Given the description of an element on the screen output the (x, y) to click on. 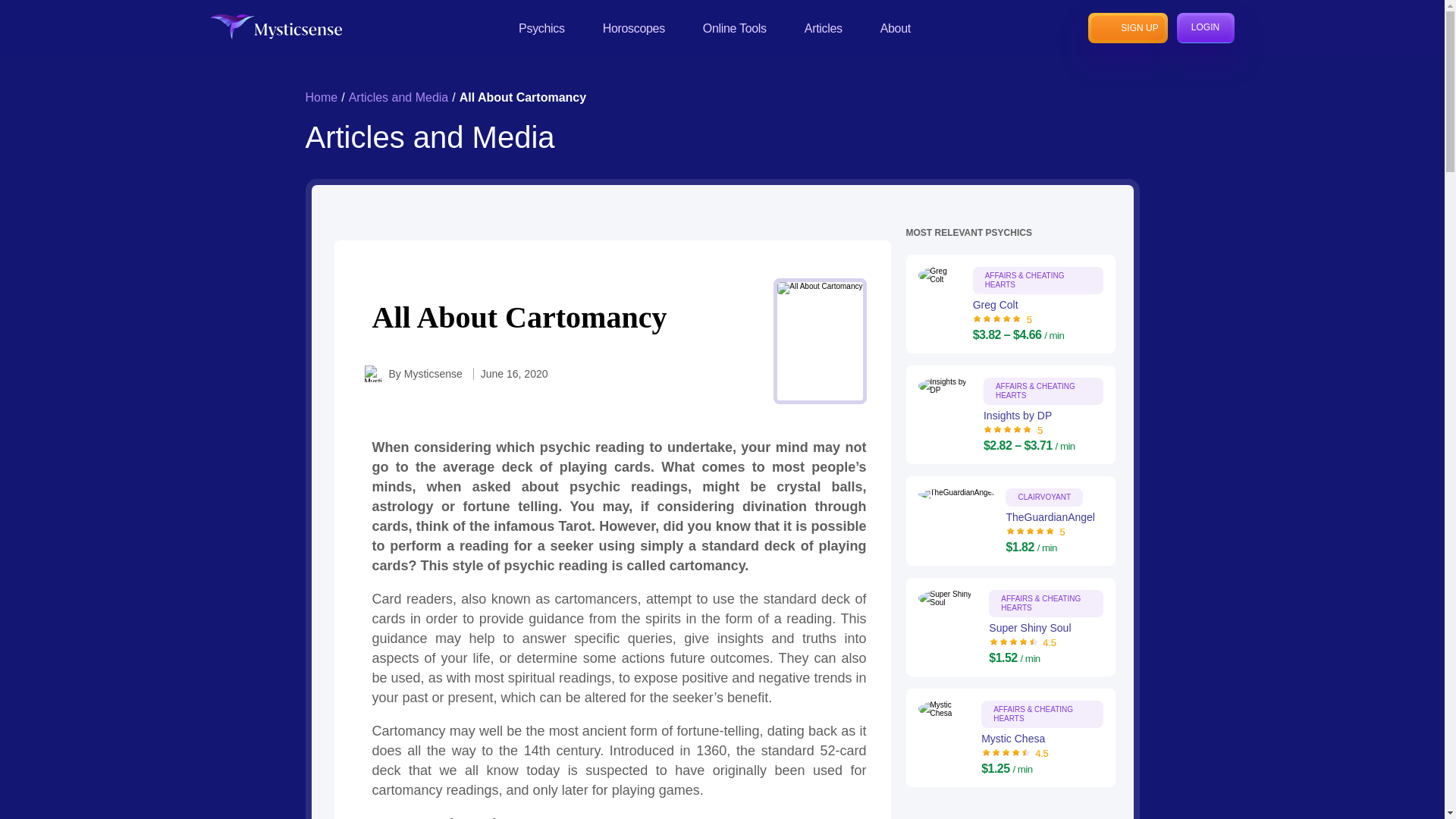
Horoscopes (633, 27)
LOGIN (1205, 27)
SIGN UP (1127, 27)
Online Tools (735, 27)
Articles (823, 27)
Articles and Media (398, 97)
Psychics (541, 27)
About (895, 27)
Home (320, 97)
